Given the description of an element on the screen output the (x, y) to click on. 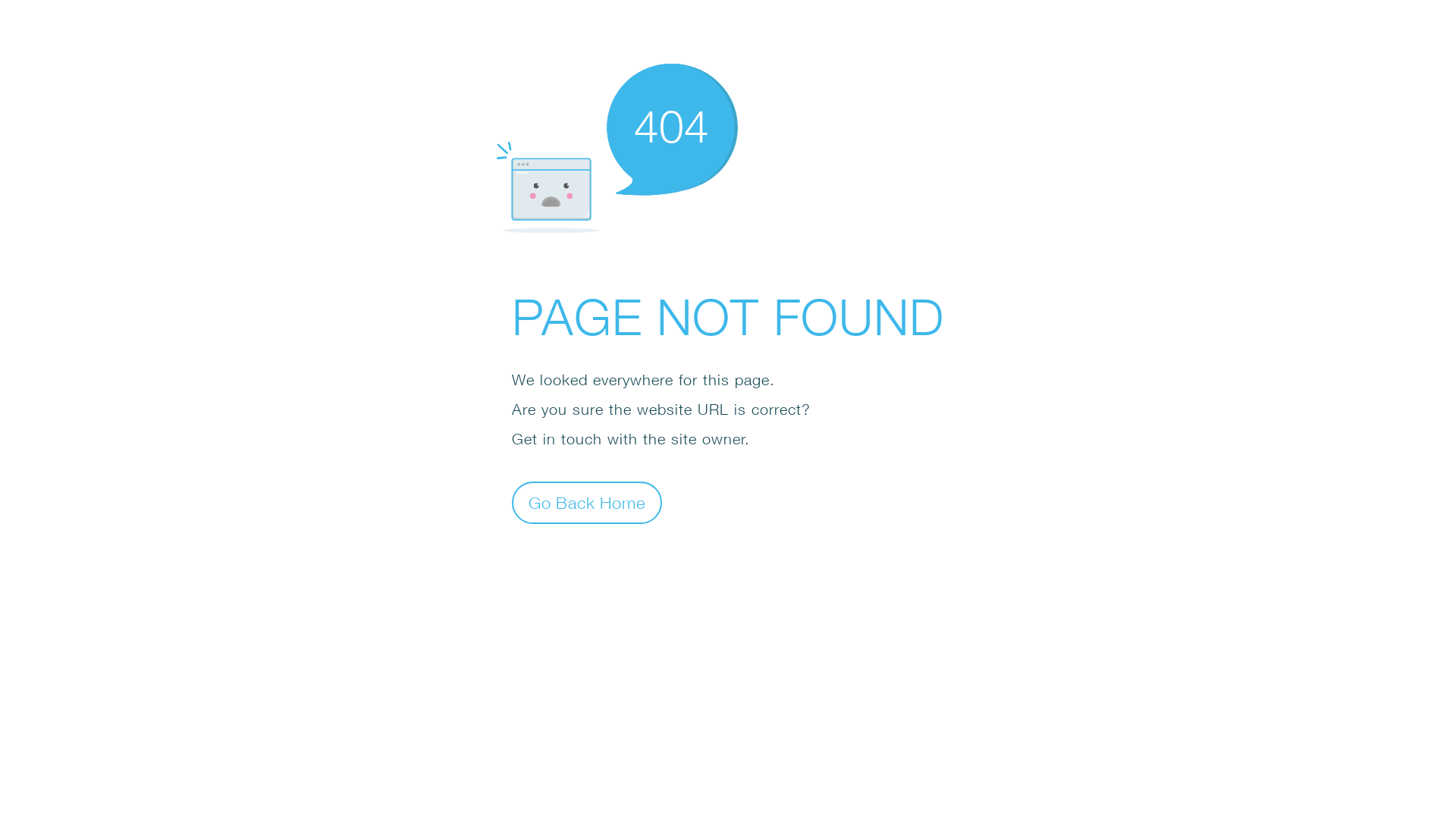
Go Back Home Element type: text (586, 502)
